Given the description of an element on the screen output the (x, y) to click on. 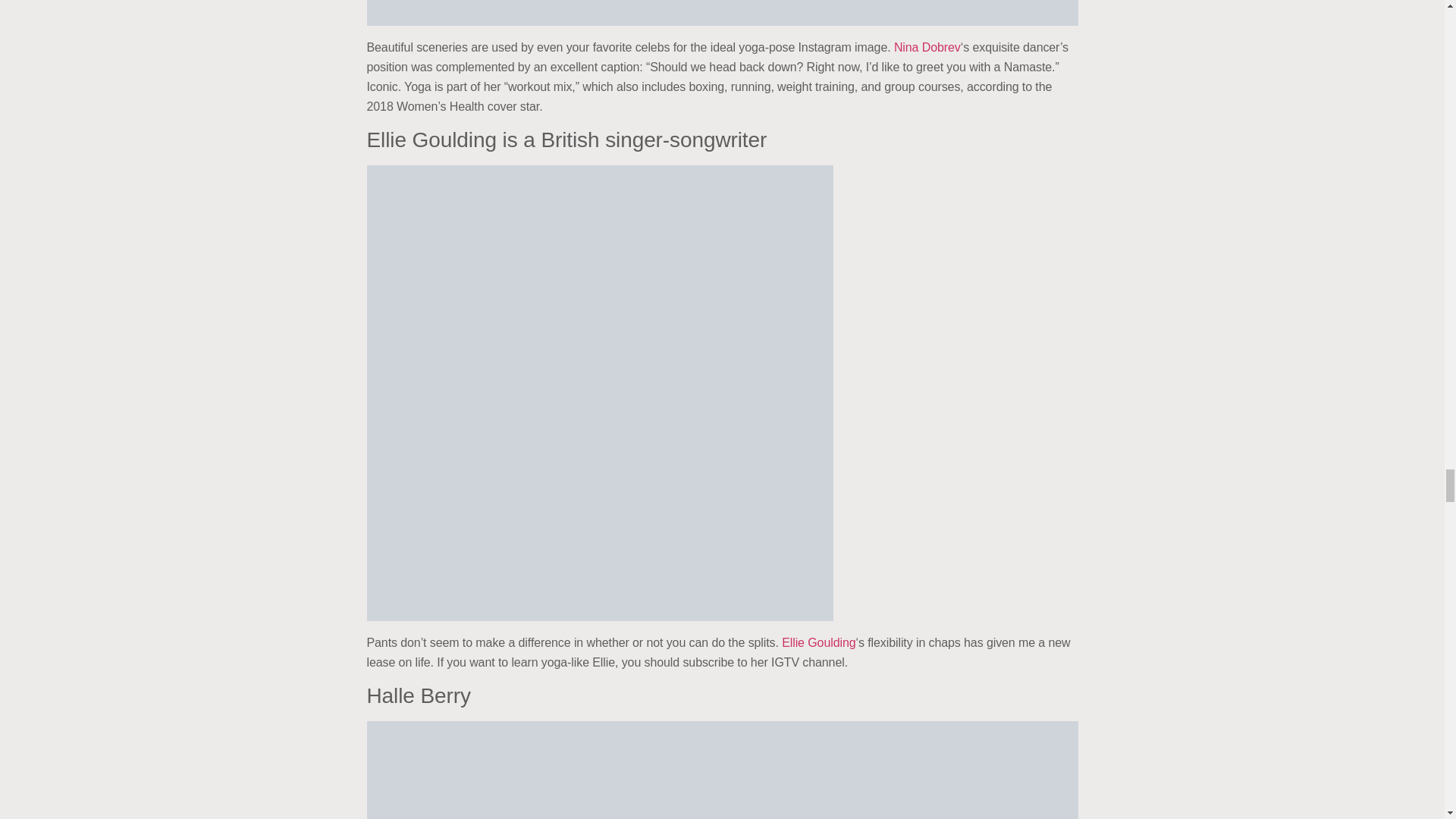
Ellie Goulding (818, 642)
Nina Dobrev (926, 47)
